Given the description of an element on the screen output the (x, y) to click on. 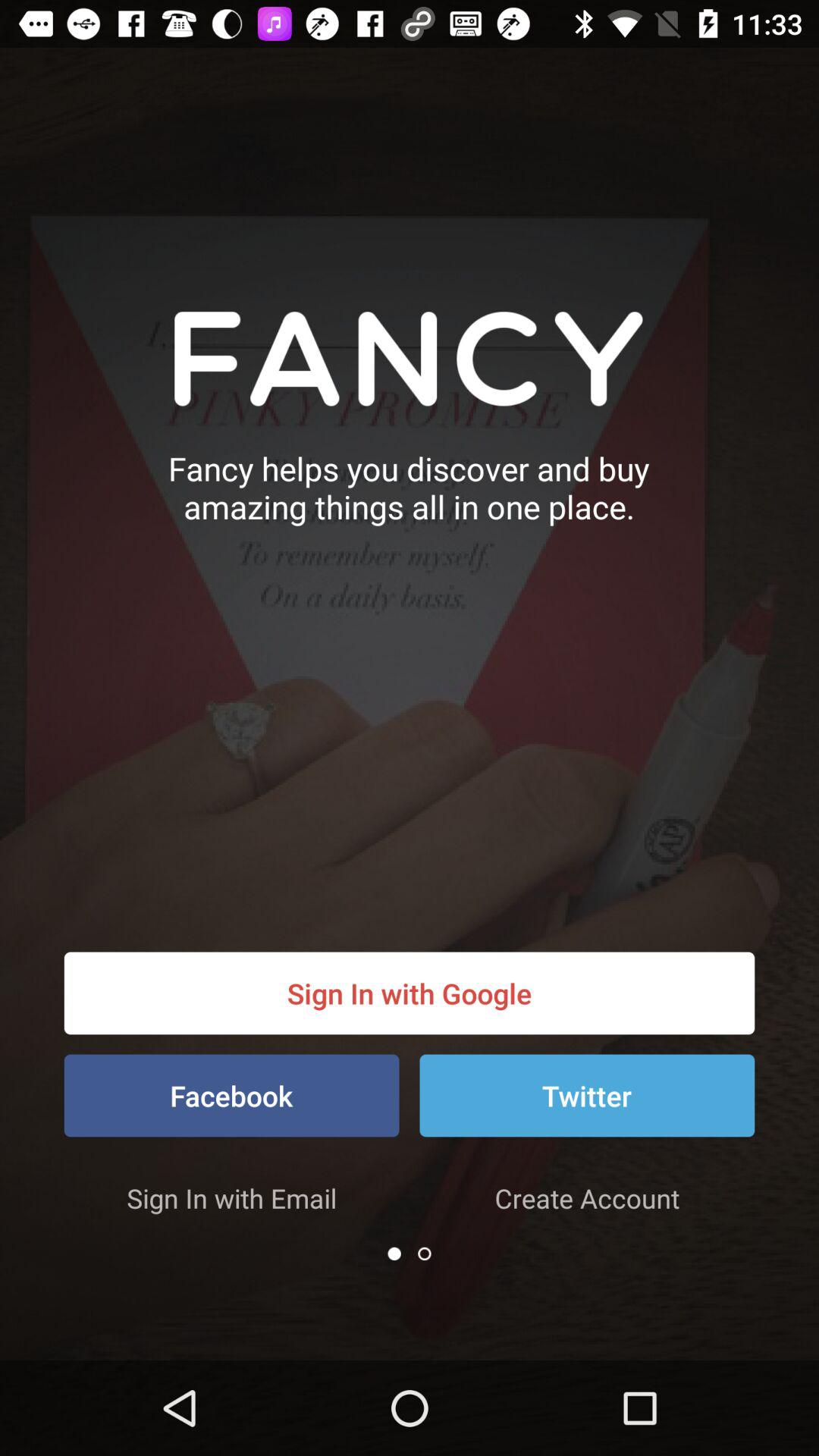
swipe to the create account (586, 1197)
